Given the description of an element on the screen output the (x, y) to click on. 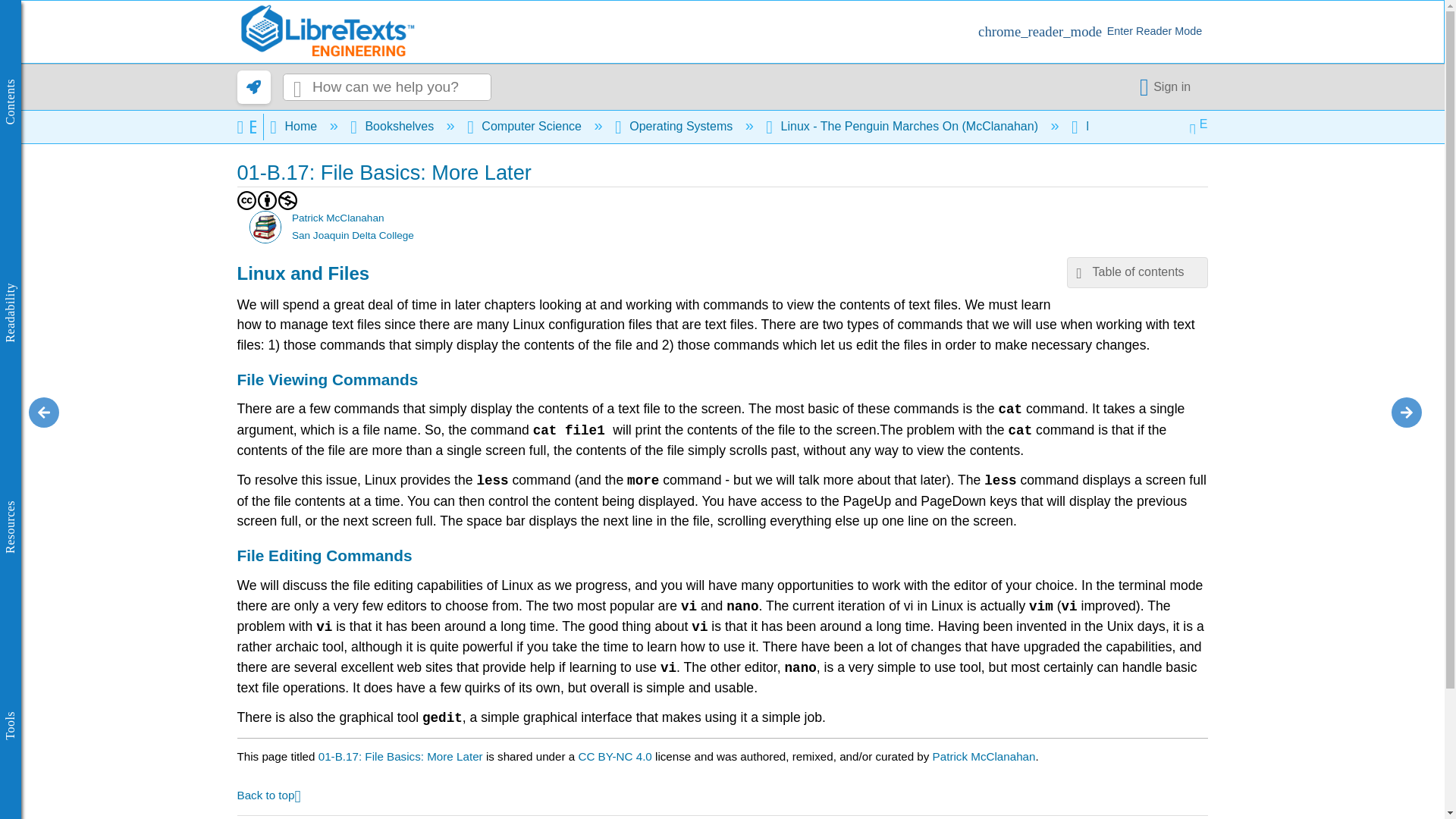
CC (246, 199)
Jump back to top of this article (267, 794)
NC (287, 199)
Single Sign-On (1167, 86)
BY (267, 199)
Patrick McClanahan (265, 226)
